Given the description of an element on the screen output the (x, y) to click on. 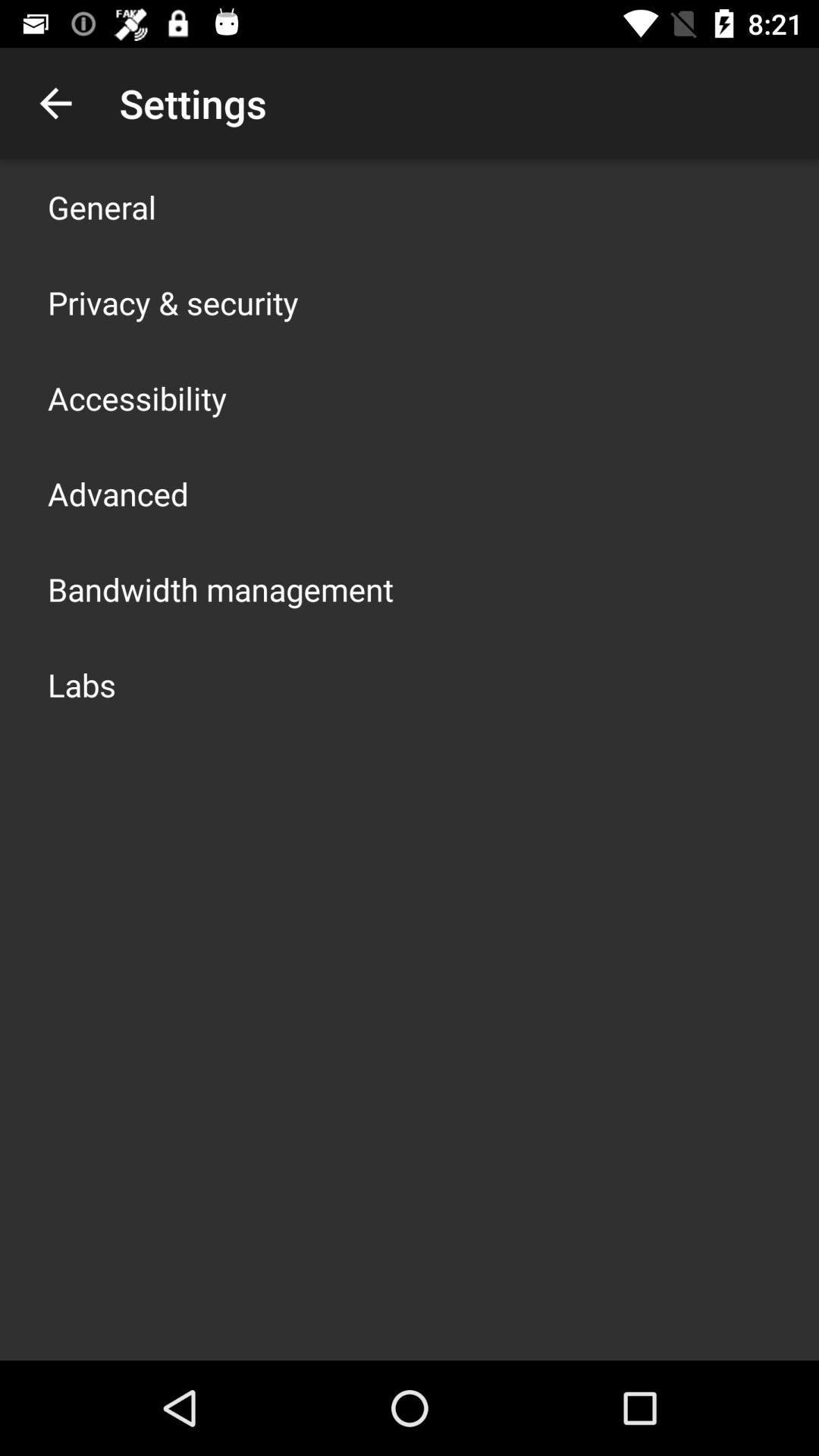
click the item below privacy & security (136, 397)
